Given the description of an element on the screen output the (x, y) to click on. 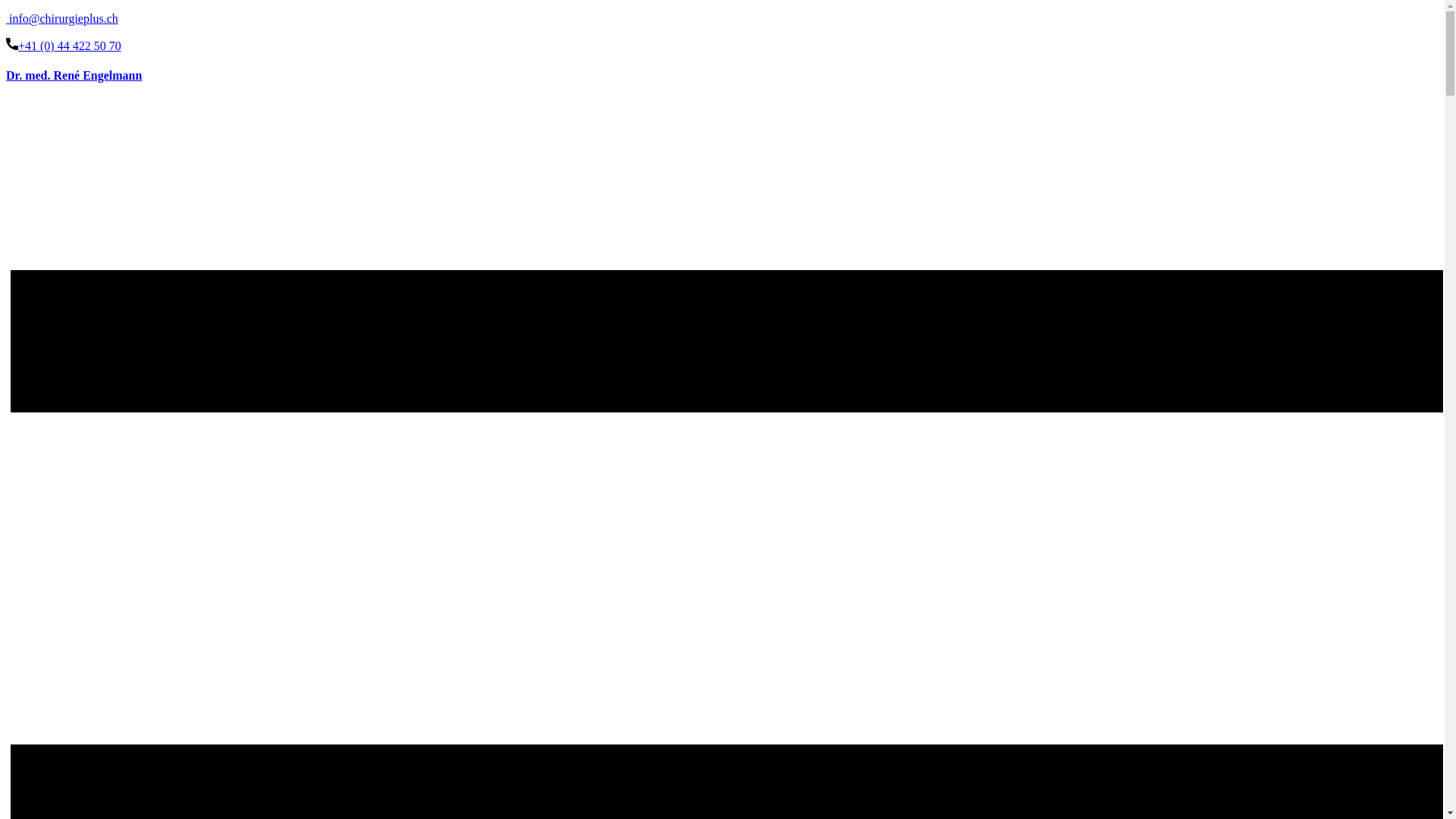
 info@chirurgieplus.ch Element type: text (62, 18)
+41 (0) 44 422 50 70 Element type: text (63, 45)
